Given the description of an element on the screen output the (x, y) to click on. 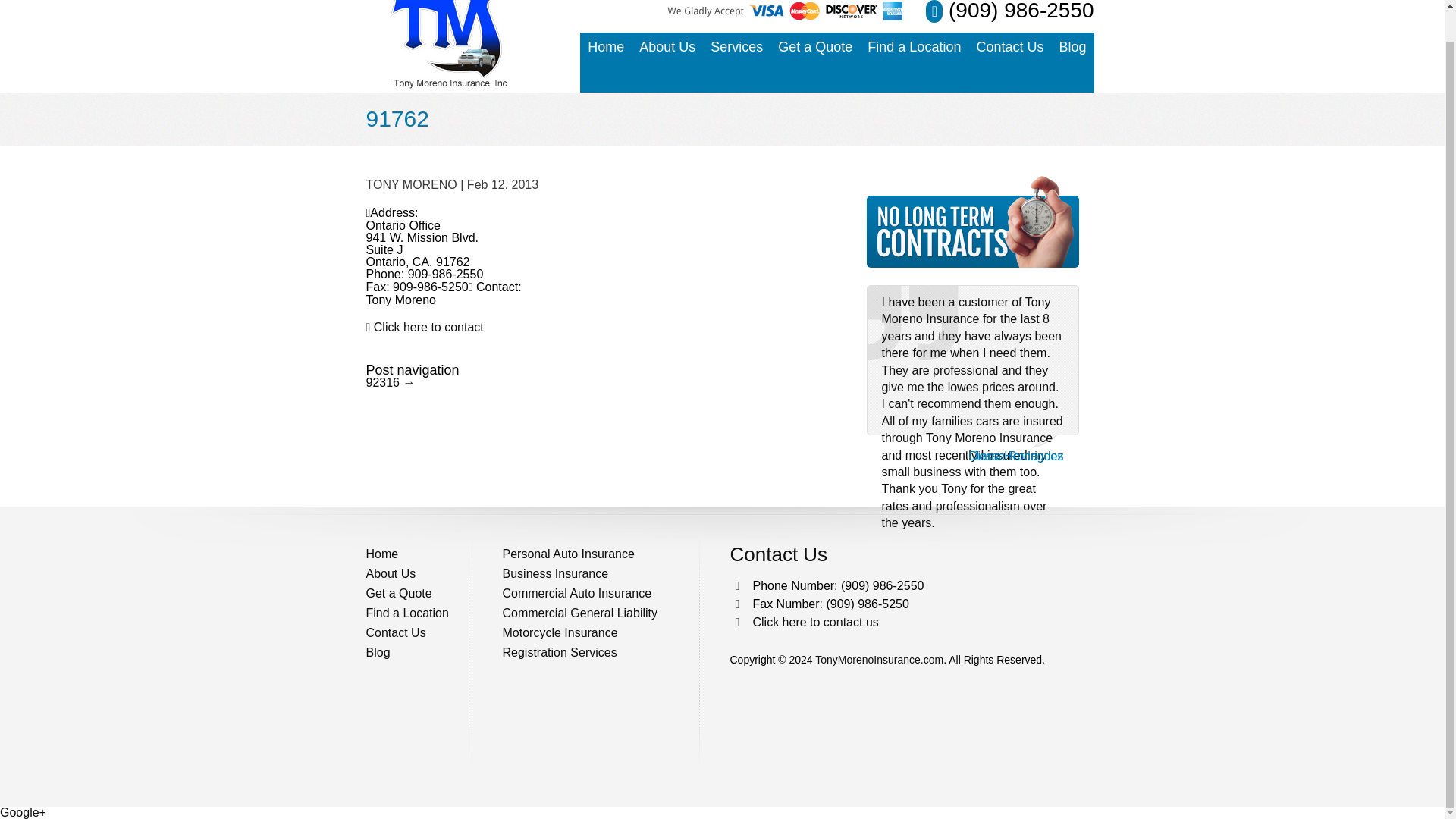
Find a Location (914, 46)
Tony Moreno Insurance (448, 46)
Home (605, 46)
Blog (1072, 46)
Contact Us (1009, 46)
Home (425, 554)
About Us (425, 573)
Click here to contact (428, 327)
Get a Quote (815, 46)
Get a Quote (972, 263)
About Us (667, 46)
Services (736, 46)
